Given the description of an element on the screen output the (x, y) to click on. 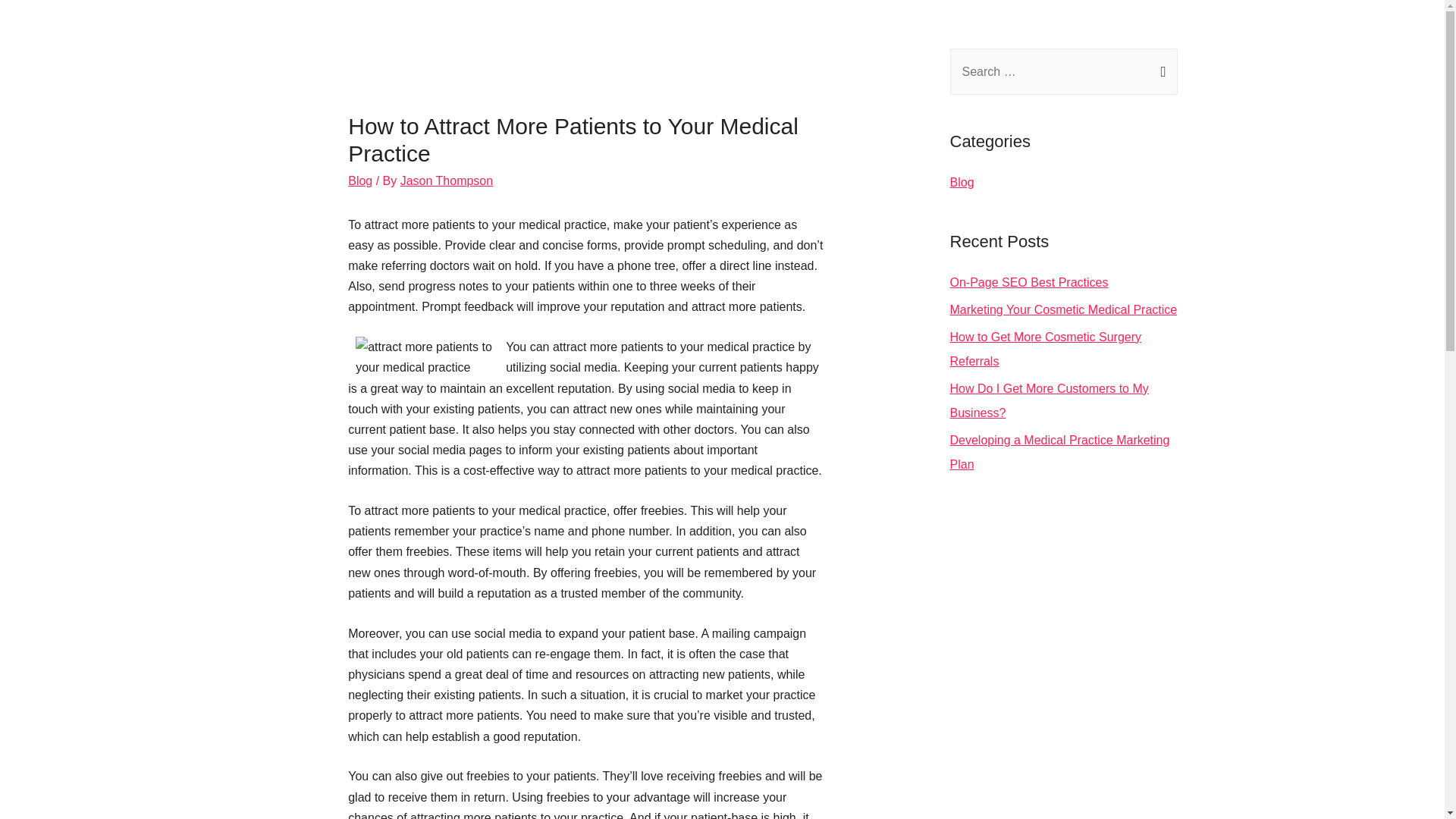
Blog (359, 180)
How Do I Get More Customers to My Business? (1048, 400)
Search (1159, 64)
Developing a Medical Practice Marketing Plan (1059, 452)
Search (1159, 64)
View all posts by Jason Thompson (446, 180)
On-Page SEO Best Practices (1028, 282)
Search (1159, 64)
Jason Thompson (446, 180)
How to Get More Cosmetic Surgery Referrals (1045, 348)
Marketing Your Cosmetic Medical Practice (1062, 309)
Blog (961, 182)
